Given the description of an element on the screen output the (x, y) to click on. 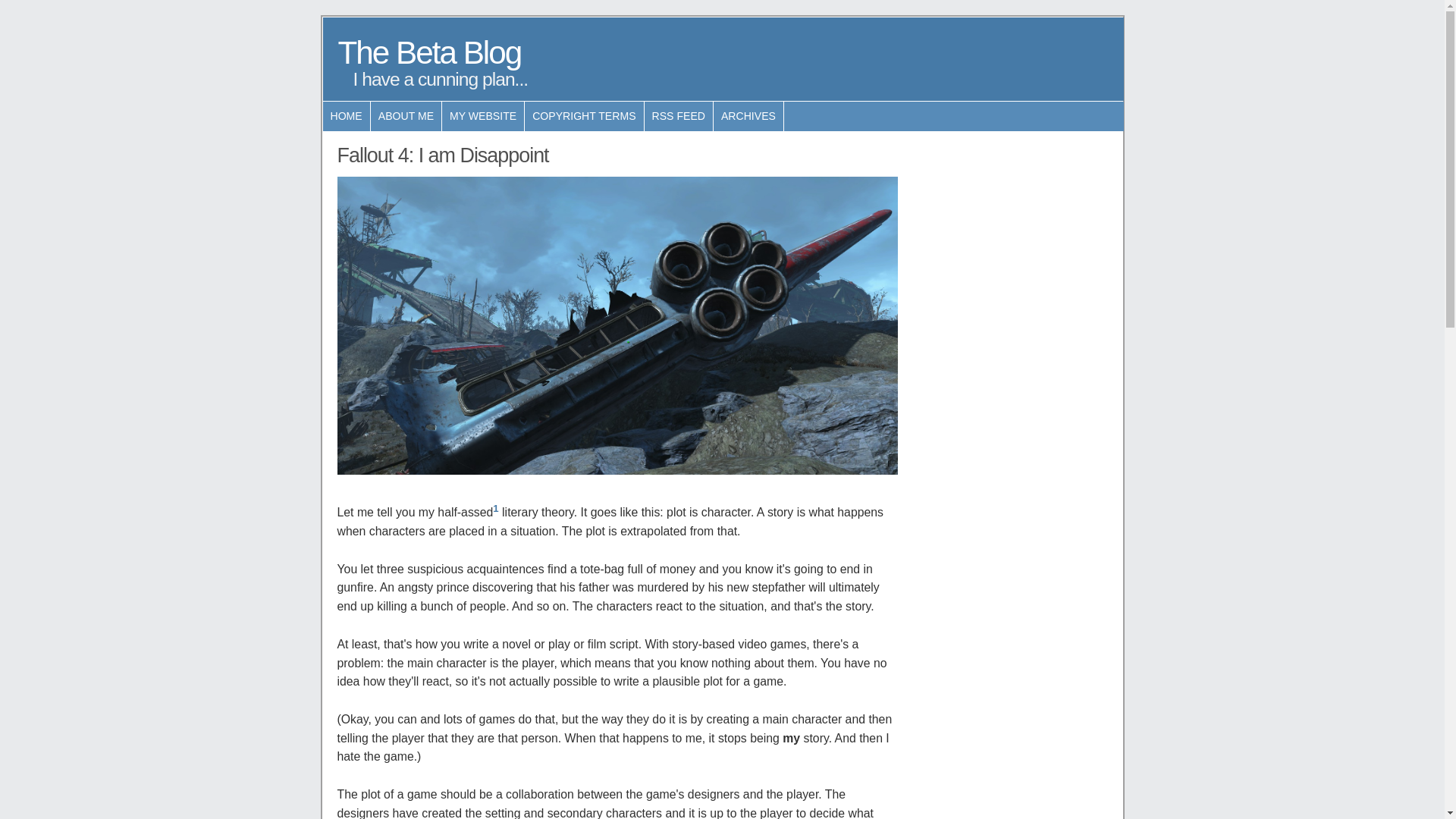
ABOUT ME Element type: text (405, 116)
RSS FEED Element type: text (678, 116)
MY WEBSITE Element type: text (483, 116)
HOME Element type: text (346, 116)
Fallout 4 screenshot showing an ancient wrecked airliner Element type: hover (616, 325)
COPYRIGHT TERMS Element type: text (583, 116)
ARCHIVES Element type: text (748, 116)
1 Element type: text (495, 508)
